Given the description of an element on the screen output the (x, y) to click on. 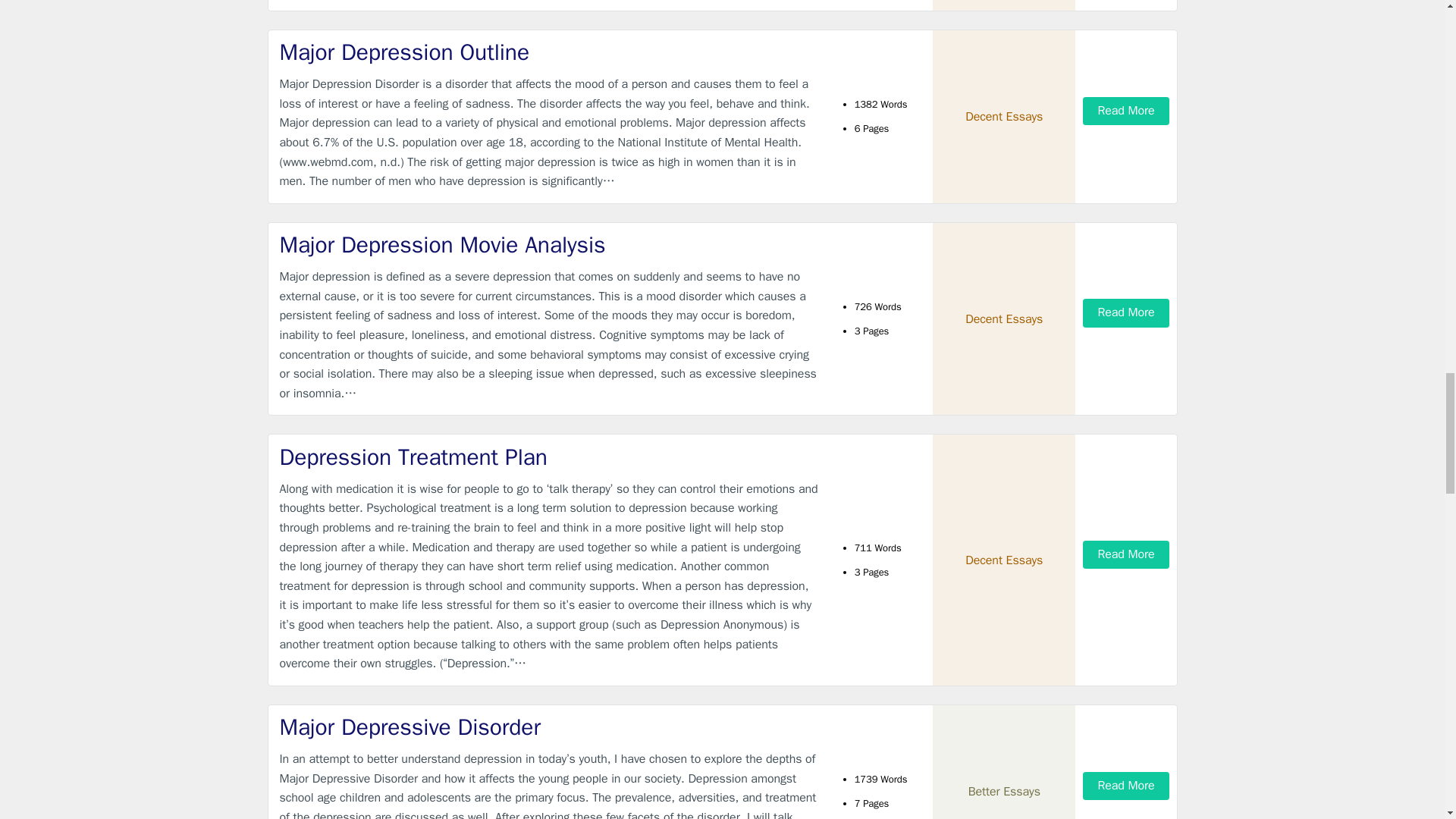
Major Depression Movie Analysis (548, 245)
Read More (1126, 111)
Read More (1126, 312)
Depression Treatment Plan (548, 457)
Read More (1126, 553)
Major Depression Outline (548, 51)
